Given the description of an element on the screen output the (x, y) to click on. 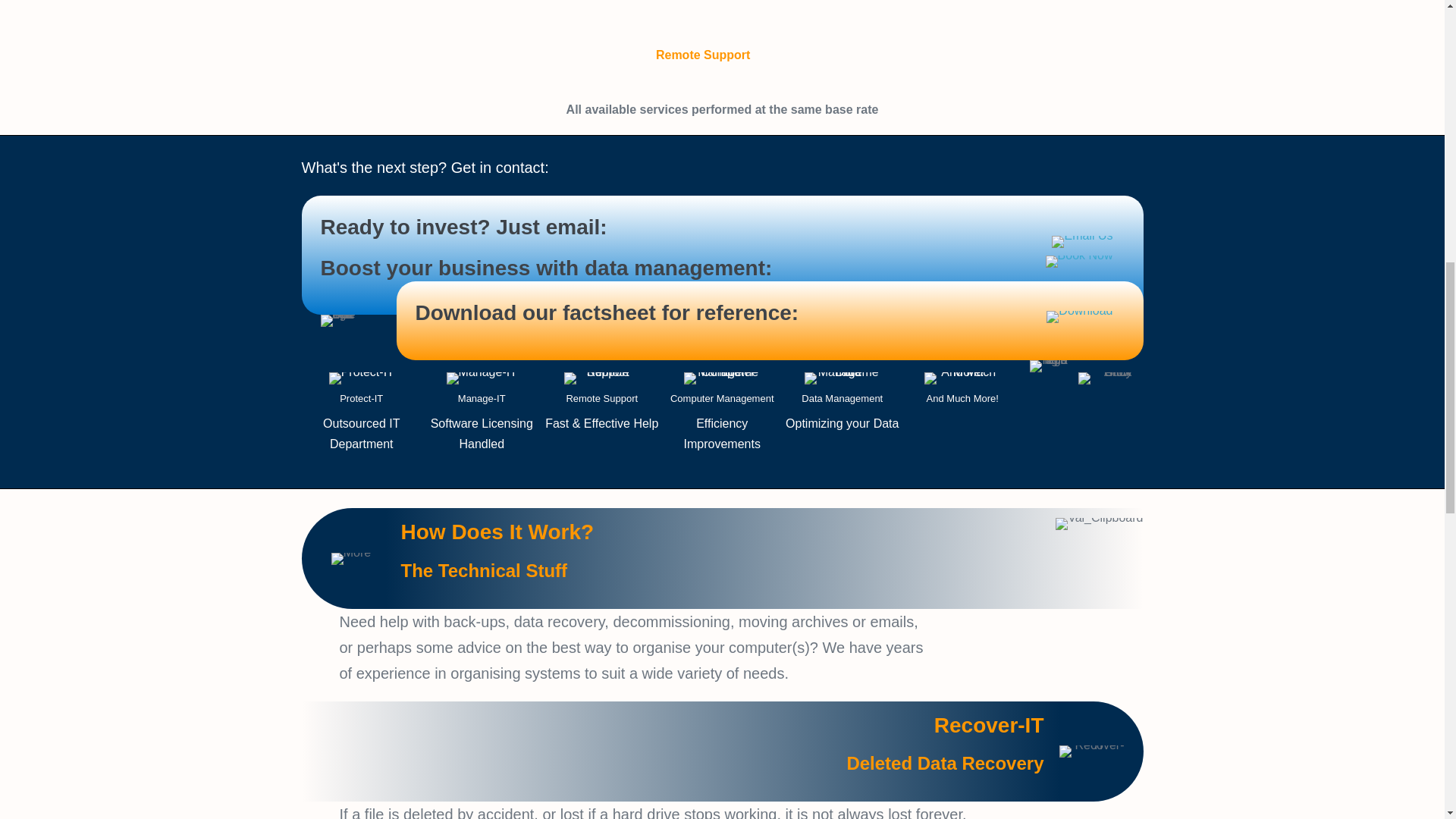
Speech Bubble Left Triangle (339, 320)
Manage-IT (481, 378)
Data2022 (842, 378)
Andy Glow Back (1104, 378)
Download (1079, 316)
Speech Bubble Right Triangle (1048, 366)
Book Now (1079, 261)
Protect-IT (361, 378)
And Much More! (962, 378)
Computer Management (722, 378)
